Given the description of an element on the screen output the (x, y) to click on. 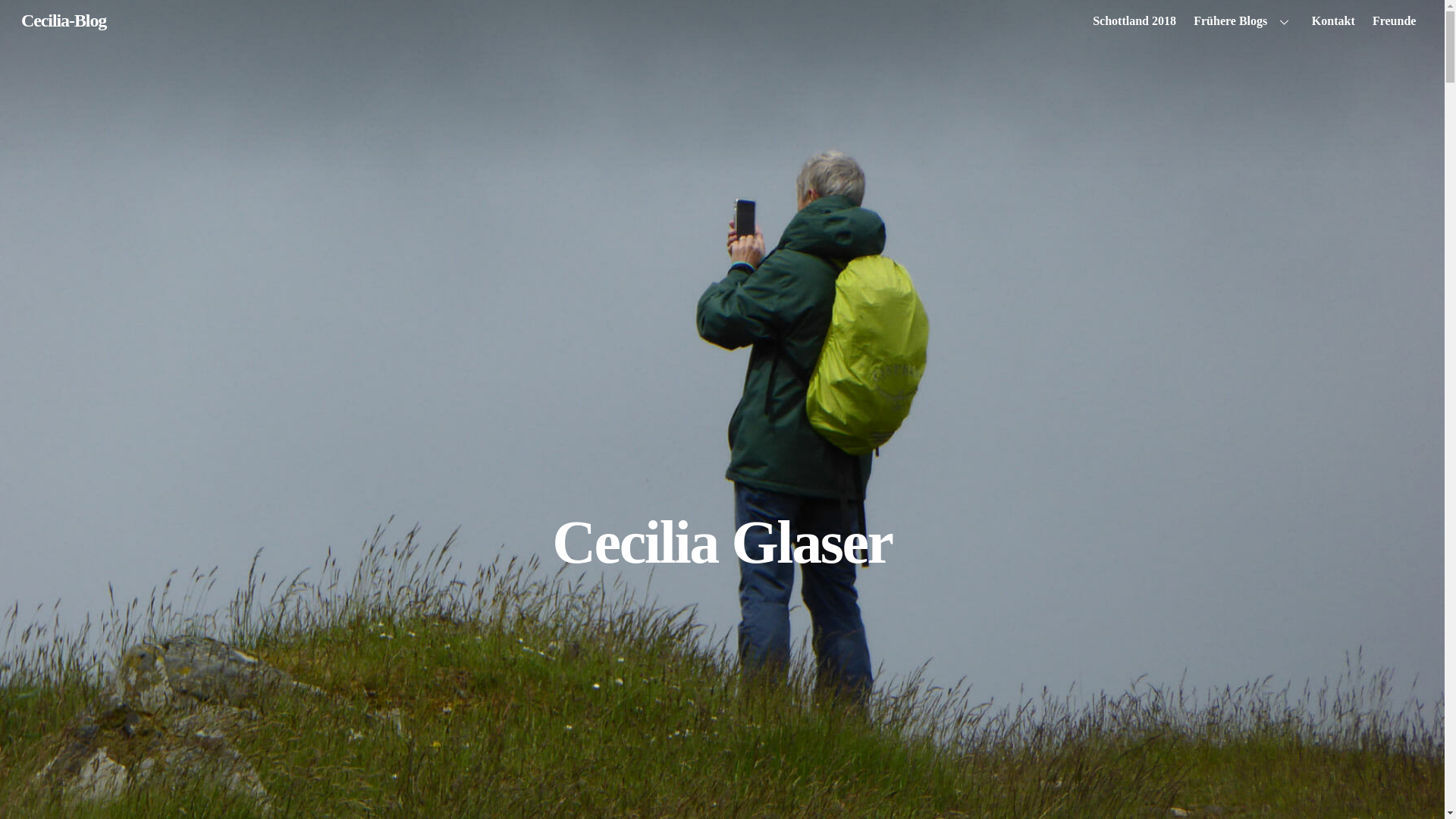
Freunde Element type: text (1394, 20)
Kontakt Element type: text (1332, 20)
Cecilia-Blog Element type: text (63, 20)
Schottland 2018 Element type: text (1134, 20)
